Given the description of an element on the screen output the (x, y) to click on. 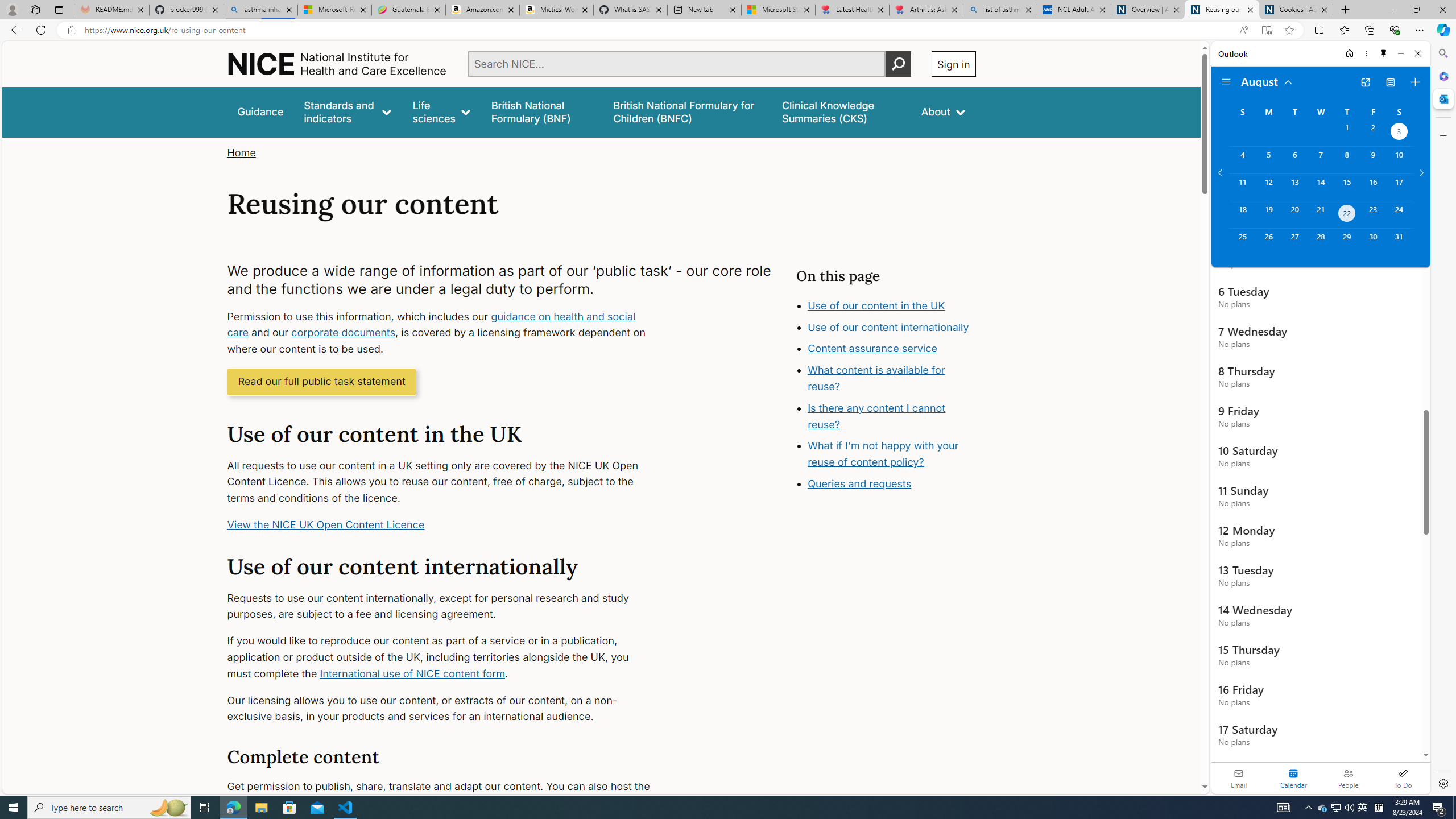
Folder navigation (1225, 82)
Tuesday, August 6, 2024.  (1294, 159)
Selected calendar module. Date today is 22 (1293, 777)
Use of our content internationally (888, 327)
Saturday, August 24, 2024.  (1399, 214)
Saturday, August 3, 2024. Date selected.  (1399, 132)
Sunday, August 11, 2024.  (1242, 186)
